Given the description of an element on the screen output the (x, y) to click on. 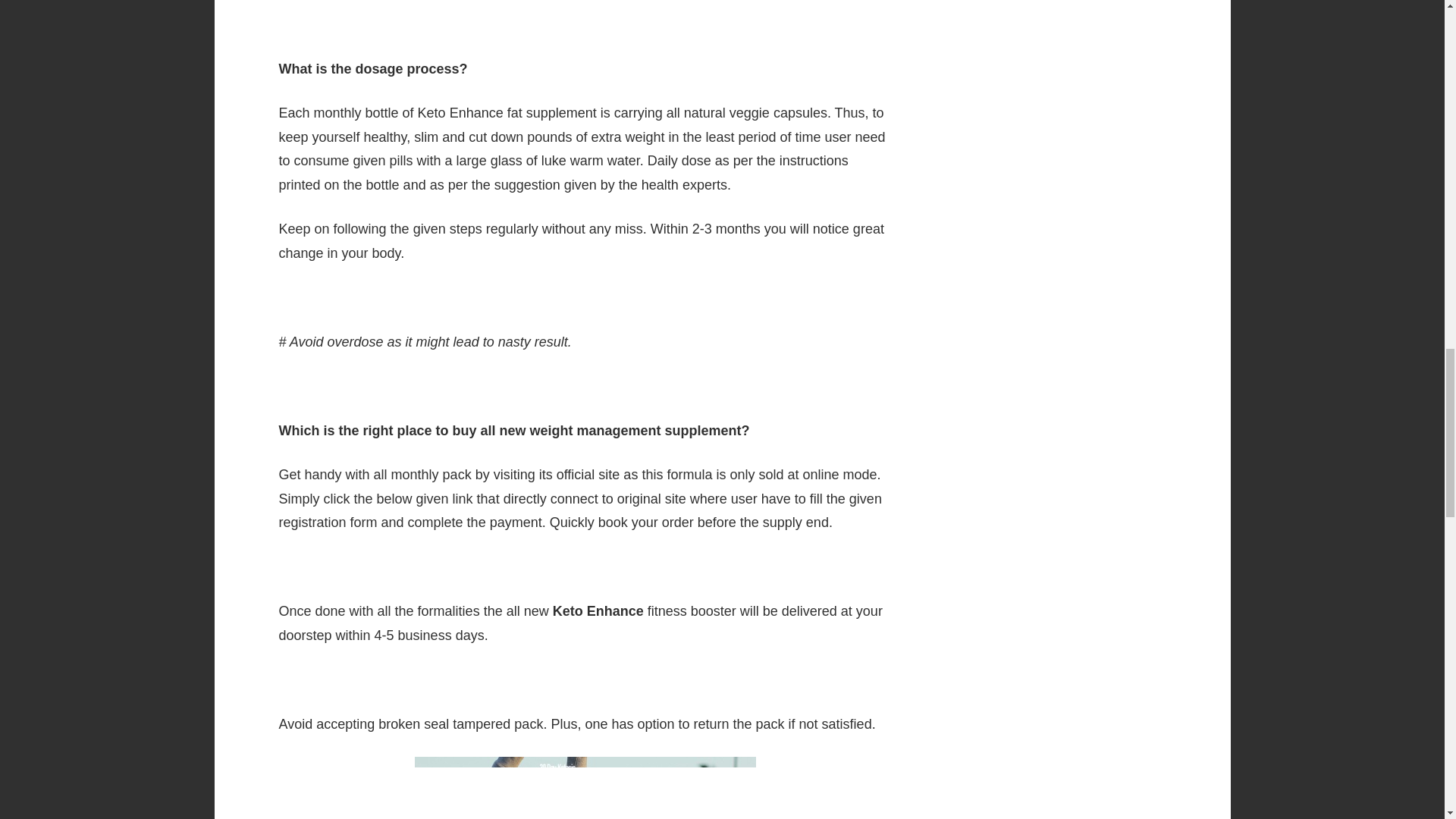
Keto Enhance (584, 787)
